Given the description of an element on the screen output the (x, y) to click on. 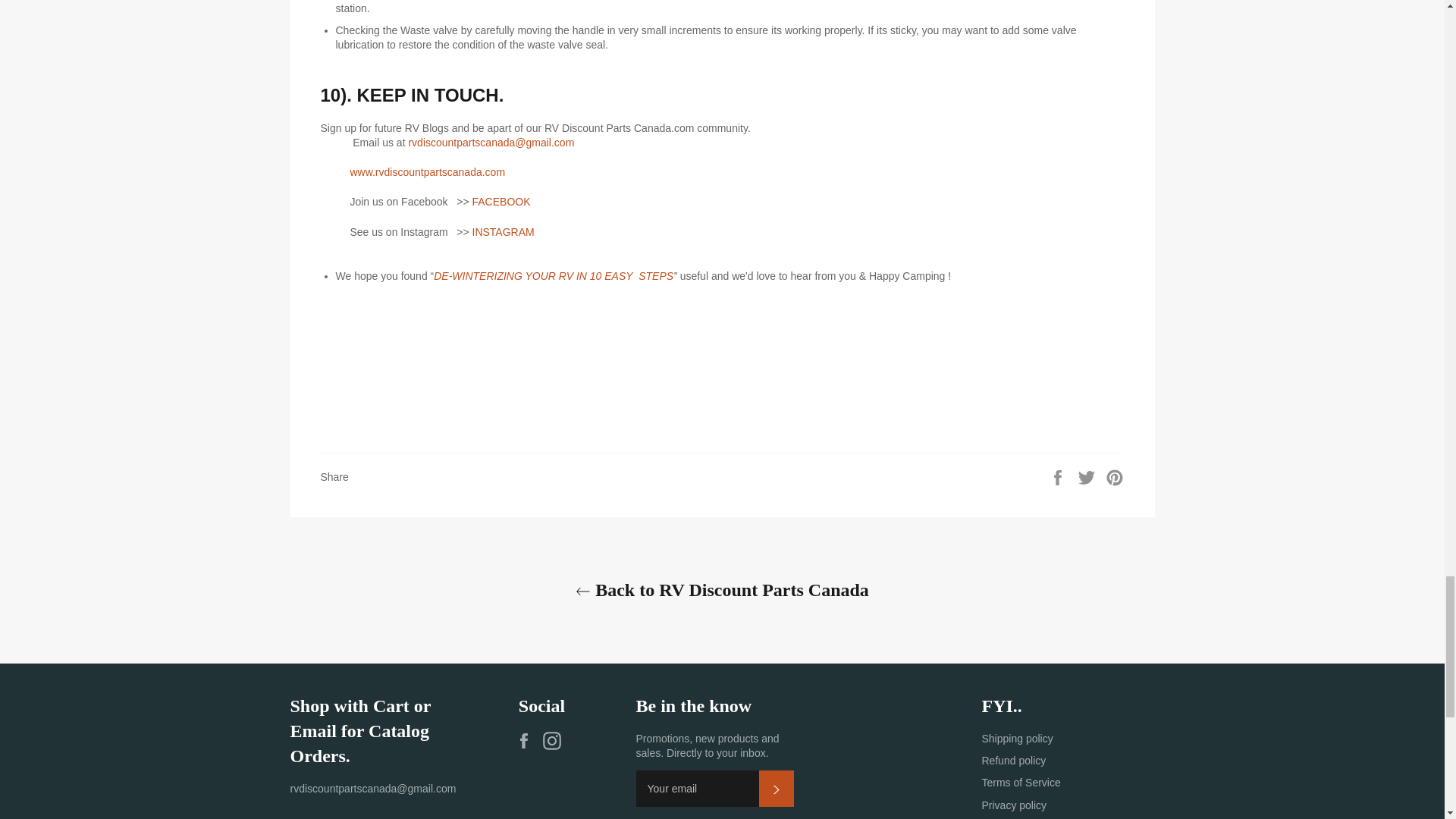
Share on Facebook (1059, 476)
INSTAGRAM (502, 232)
RV Discount Parts Canada.com         on Instagram (556, 741)
RV Discount Parts Canada.com         on Facebook (527, 741)
Tweet on Twitter (1088, 476)
FACEBOOK (501, 201)
De-winterizing your RV in 10 easy steps (552, 275)
Pin on Pinterest (1114, 476)
